Given the description of an element on the screen output the (x, y) to click on. 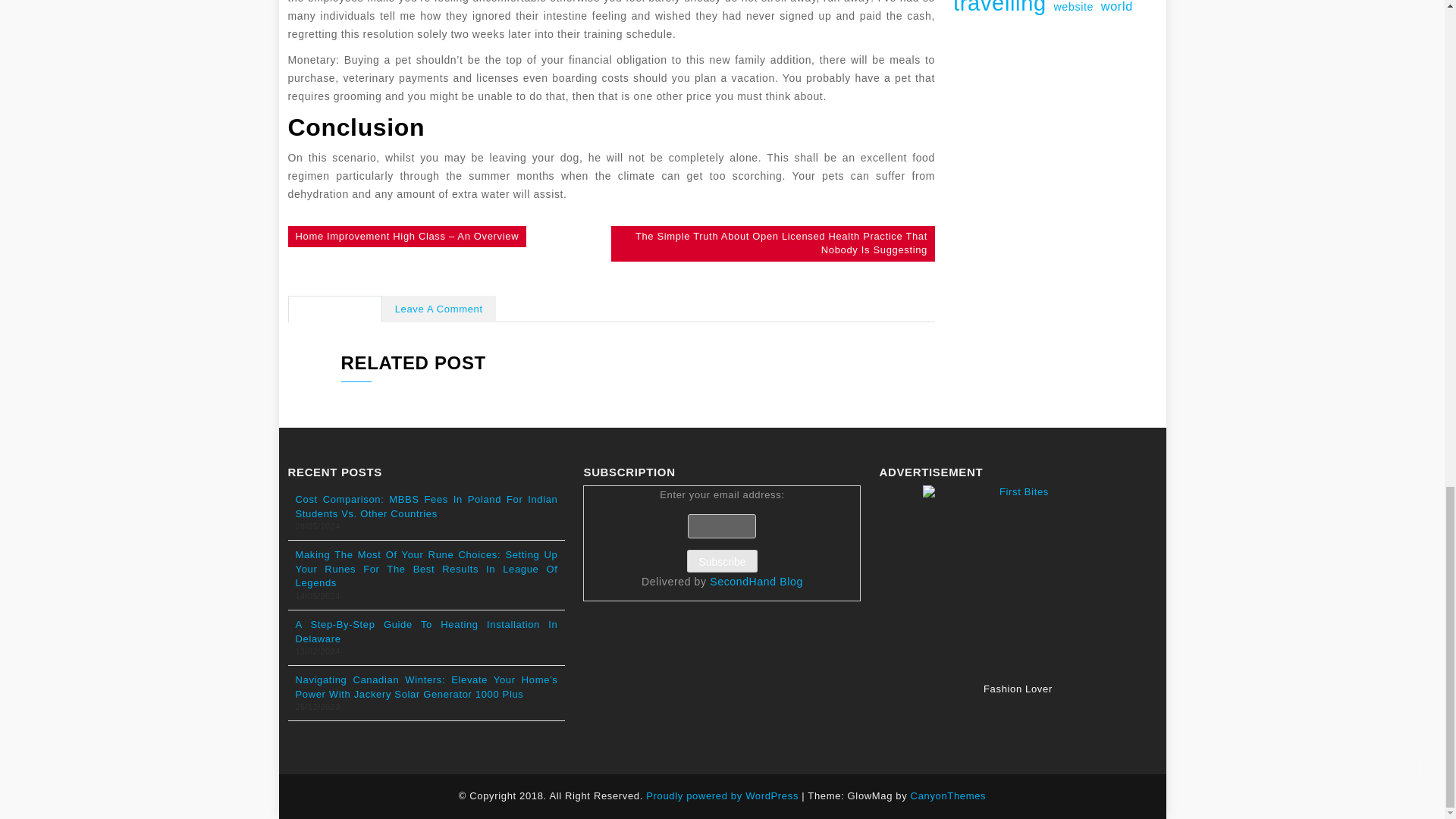
Leave A Comment (438, 309)
No Comments (334, 309)
First Bites (1017, 579)
Subscribe (722, 560)
